Given the description of an element on the screen output the (x, y) to click on. 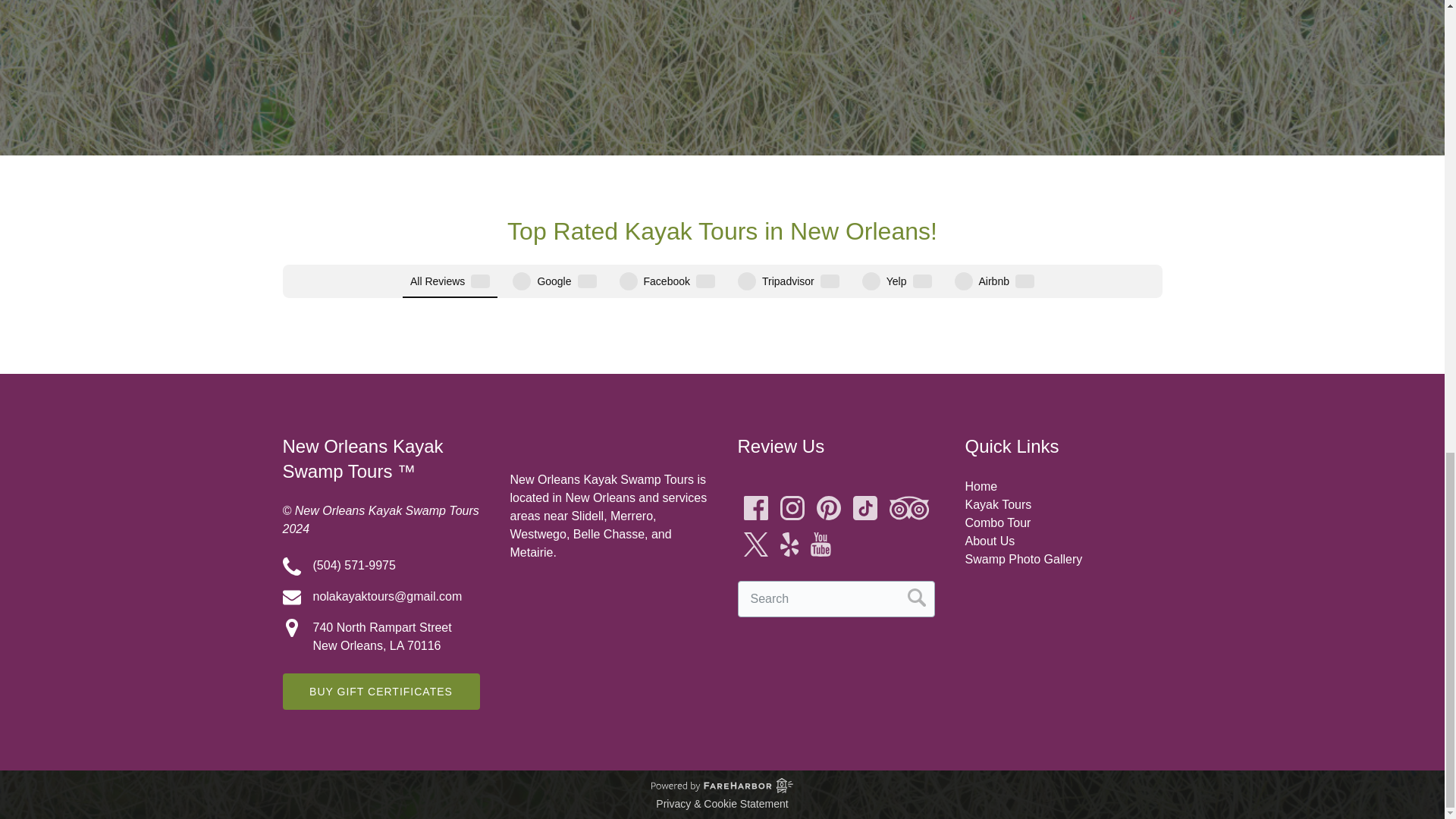
Envelope (290, 597)
Map Marker (290, 628)
Phone (290, 566)
Search (915, 597)
